Given the description of an element on the screen output the (x, y) to click on. 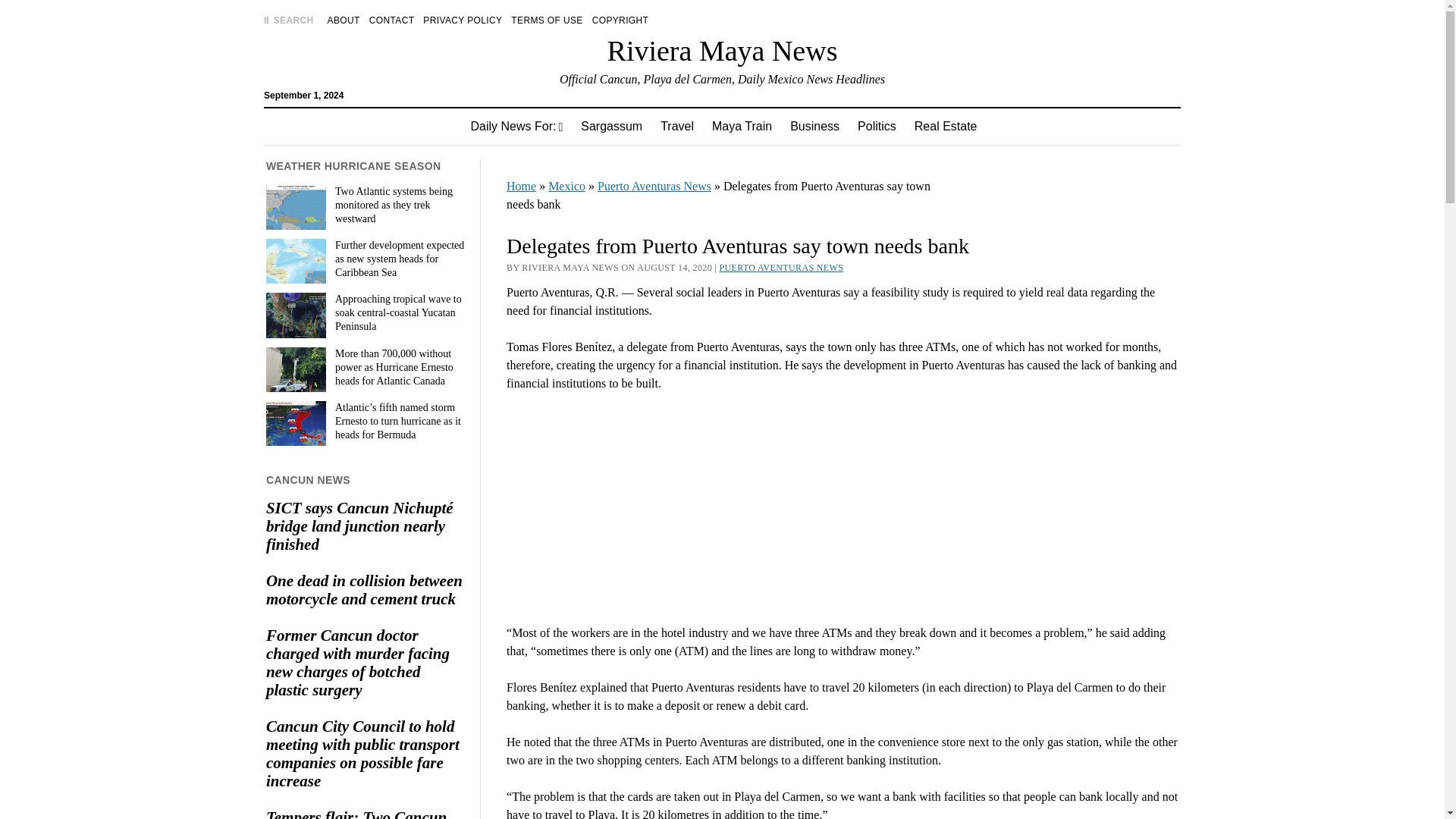
PRIVACY POLICY (462, 20)
Search (945, 129)
COPYRIGHT (620, 20)
Maya Train (741, 126)
TERMS OF USE (546, 20)
Daily News For: (516, 126)
View all posts in Puerto Aventuras News (781, 267)
Travel (676, 126)
ABOUT (343, 20)
SEARCH (288, 20)
